Given the description of an element on the screen output the (x, y) to click on. 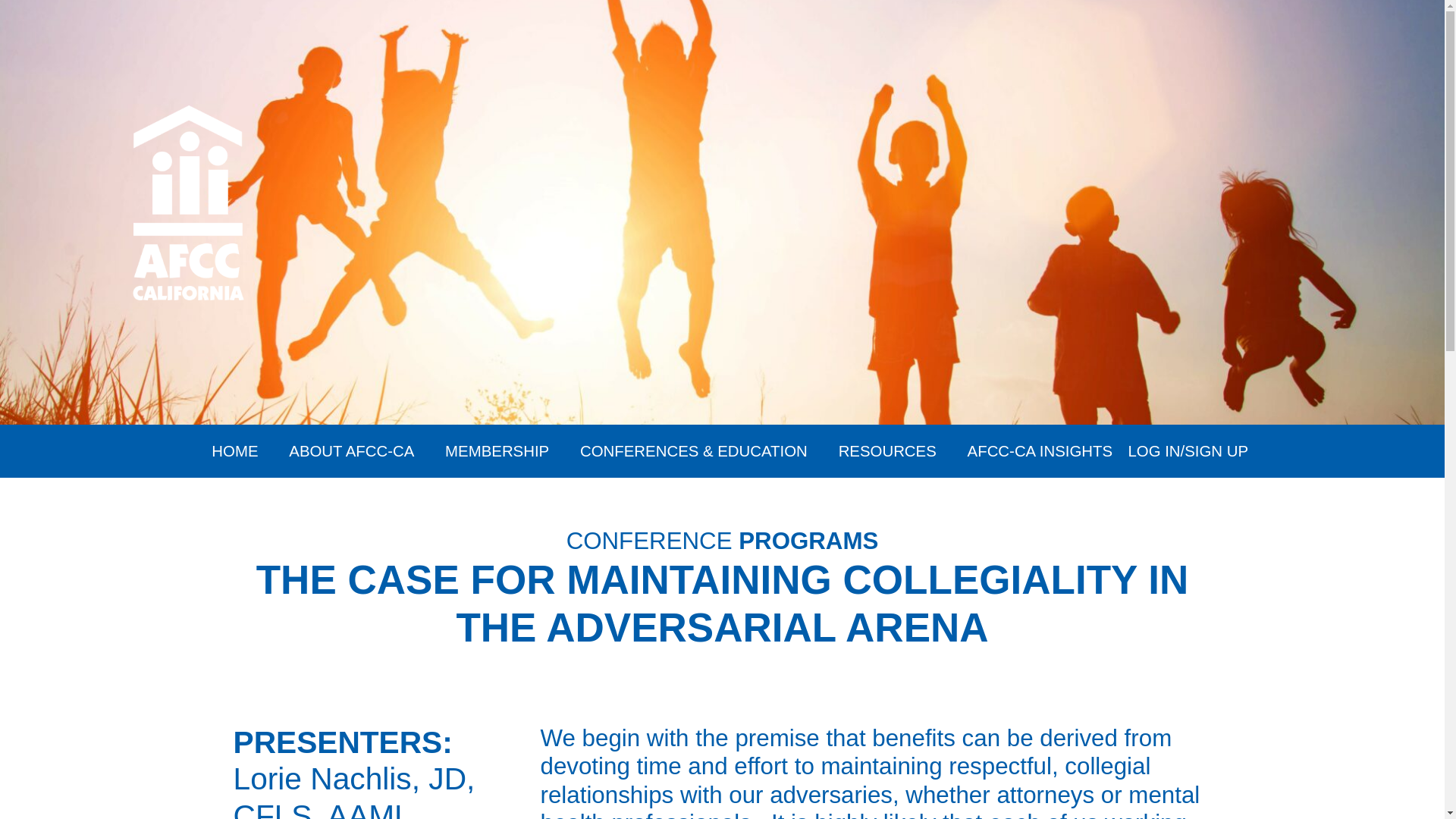
HOME (234, 451)
ABOUT AFCC-CA (350, 451)
RESOURCES (887, 451)
MEMBERSHIP (496, 451)
